Given the description of an element on the screen output the (x, y) to click on. 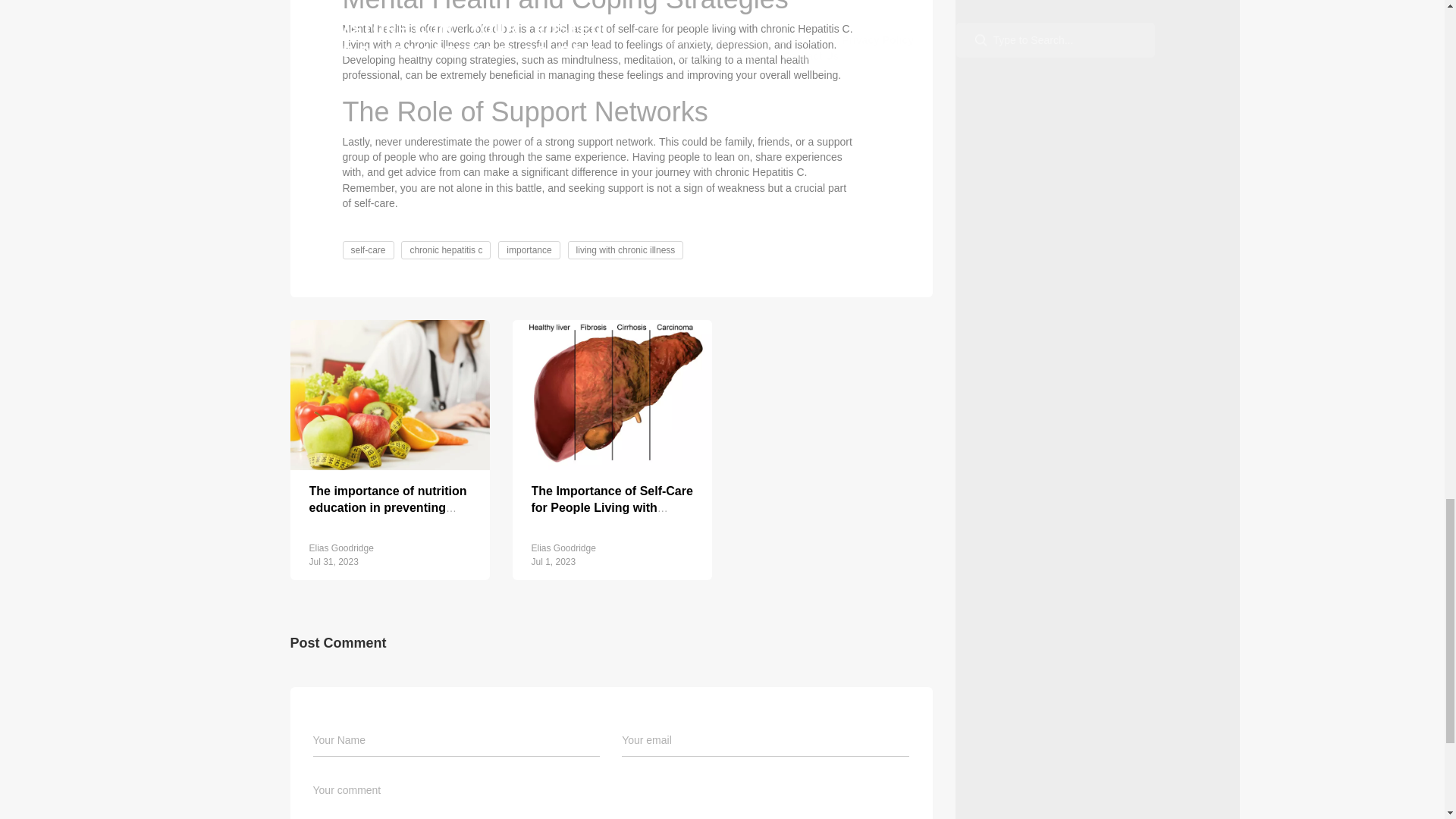
self-care (367, 249)
chronic hepatitis c (445, 249)
importance (529, 249)
Elias Goodridge (563, 548)
living with chronic illness (625, 249)
Elias Goodridge (341, 548)
The importance of nutrition education in preventing obesity (387, 507)
